Given the description of an element on the screen output the (x, y) to click on. 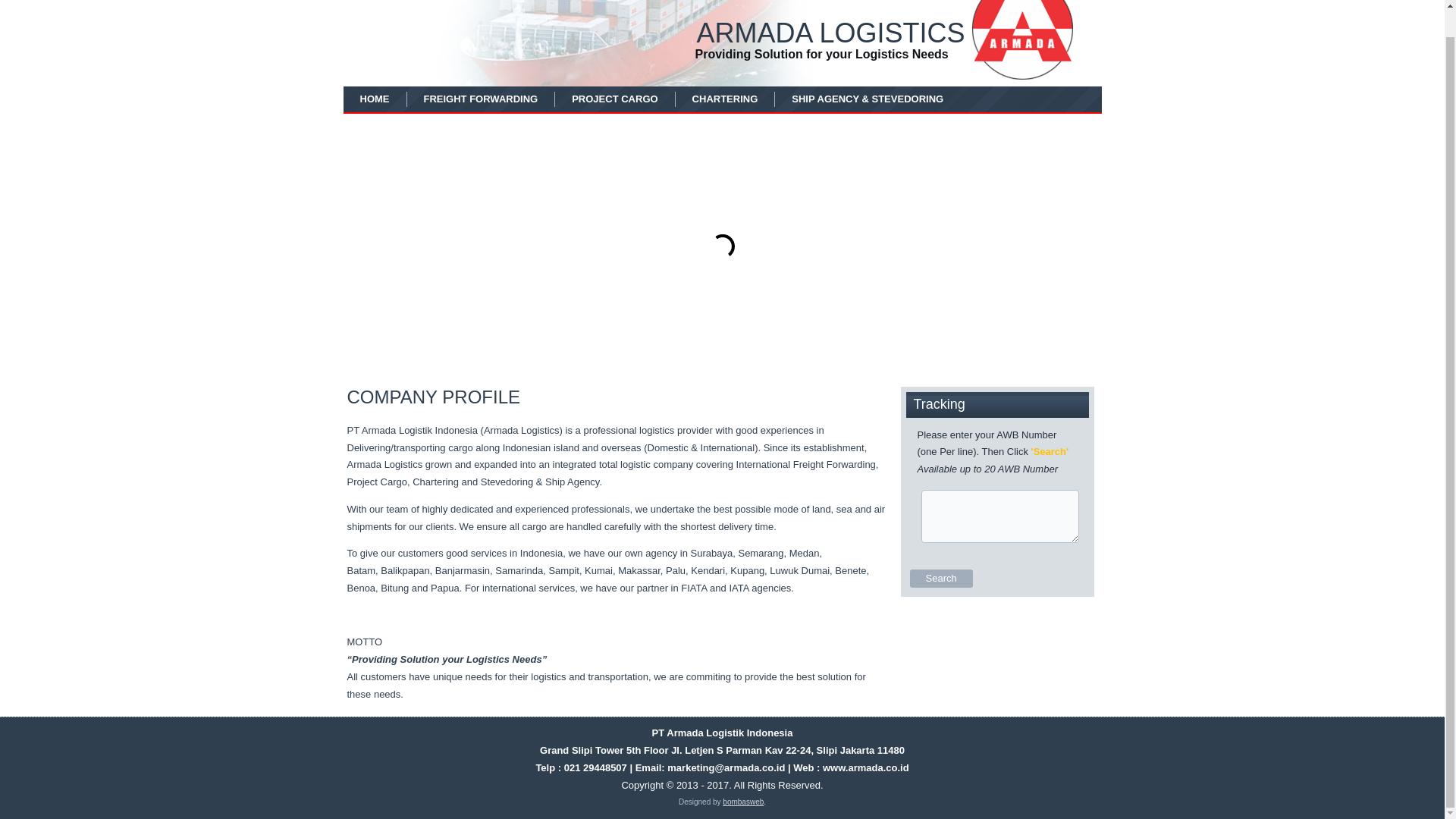
HOME (375, 99)
FREIGHT FORWARDING (480, 99)
Search (941, 578)
HOME (375, 99)
bombasweb (742, 801)
Search (941, 578)
FREIGHT FORWARDING (480, 99)
CHARTERING (725, 99)
CHARTERING (725, 99)
PROJECT CARGO (614, 99)
ARMADA LOGISTICS (829, 32)
PROJECT CARGO (614, 99)
